Given the description of an element on the screen output the (x, y) to click on. 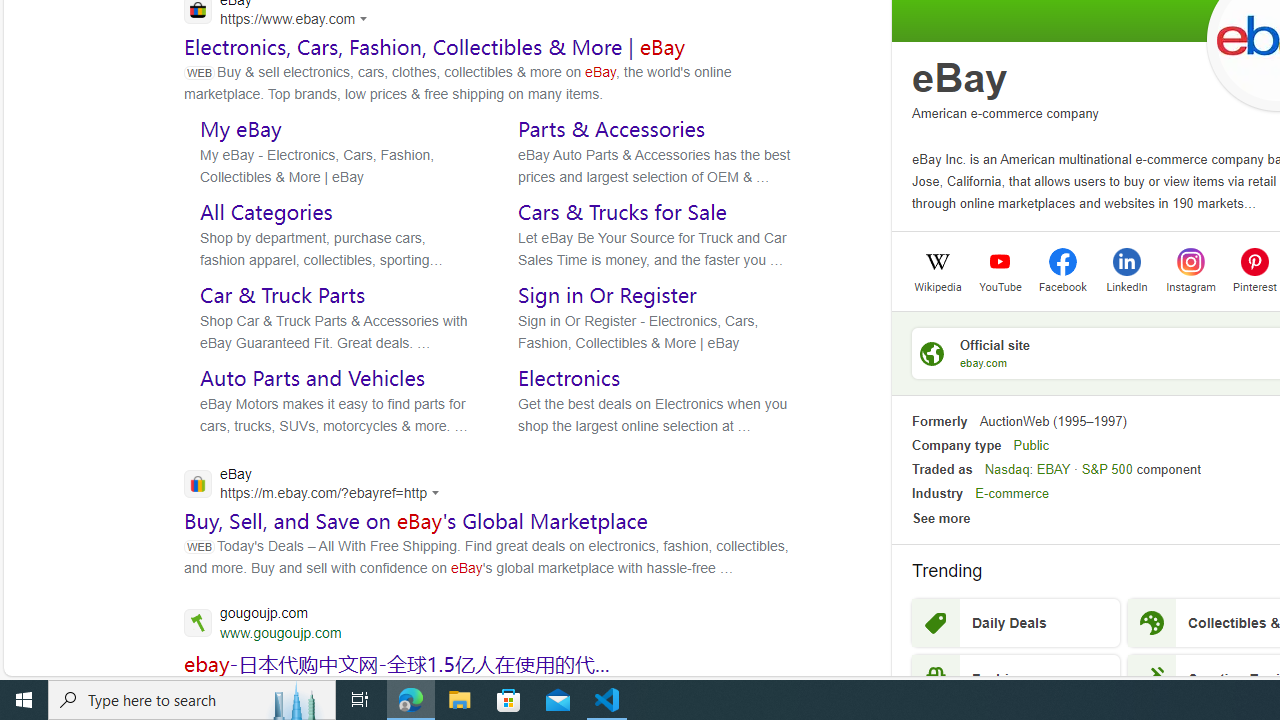
Cars & Trucks for Sale (622, 211)
My eBay (240, 128)
Car & Truck Parts (282, 295)
Public (1030, 444)
Class: sp-ofsite (932, 353)
Traded as (941, 469)
EBAY (1053, 469)
LinkedIn (1126, 285)
Global web icon (197, 483)
Electronics (569, 377)
Instagram (1190, 285)
Fashion (1015, 678)
